Given the description of an element on the screen output the (x, y) to click on. 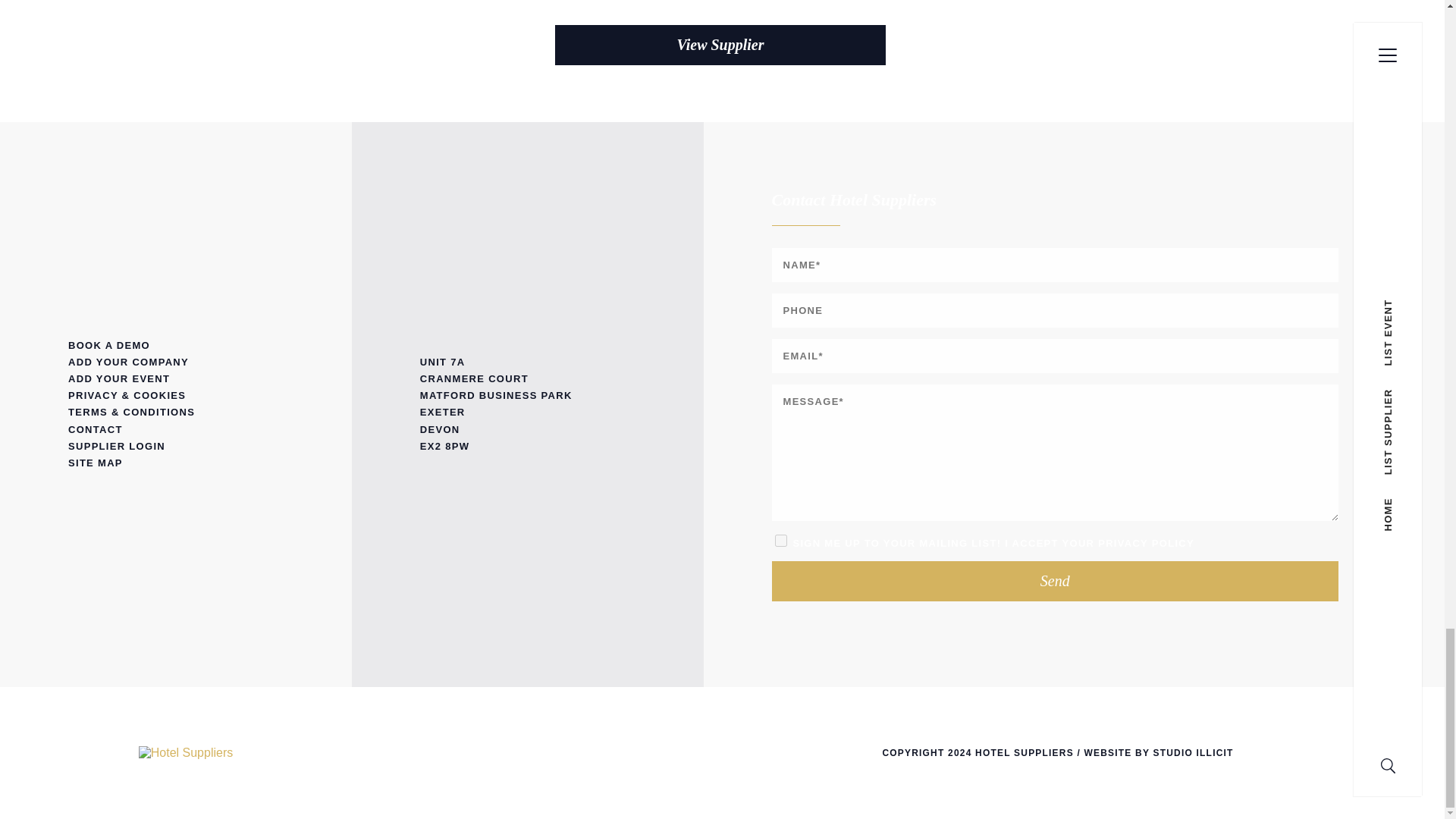
BOOK A DEMO (175, 345)
Send (1055, 581)
View Supplier (719, 45)
ADD YOUR COMPANY (175, 362)
